Given the description of an element on the screen output the (x, y) to click on. 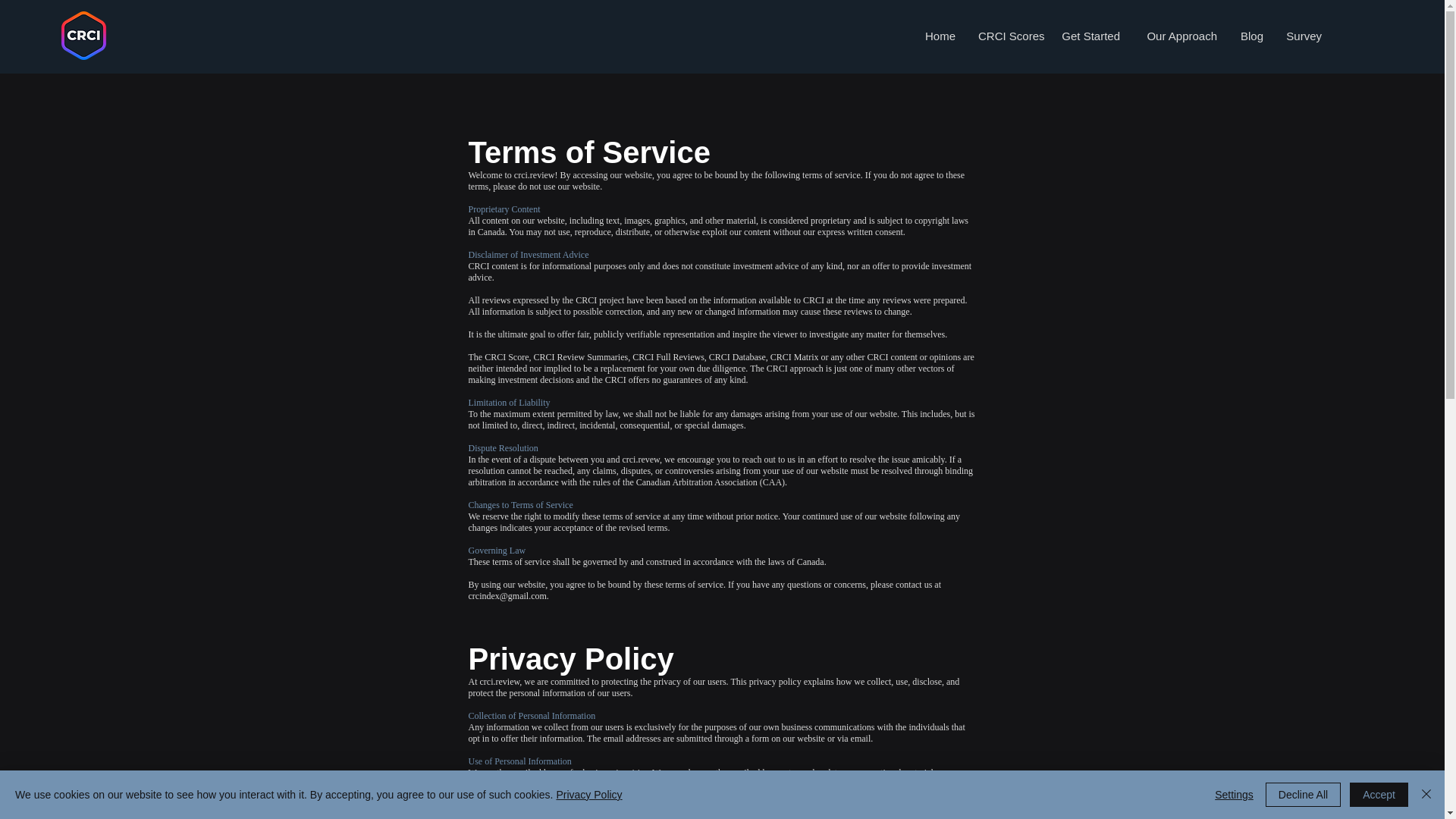
CRCI-icon-New-Clean-1.png (83, 35)
Accept (1378, 794)
Survey (1304, 36)
Blog (1251, 36)
Privacy Policy (588, 794)
Get Started (1090, 36)
Home (939, 36)
Decline All (1302, 794)
CRCI Scores (1007, 36)
Our Approach (1179, 36)
